Given the description of an element on the screen output the (x, y) to click on. 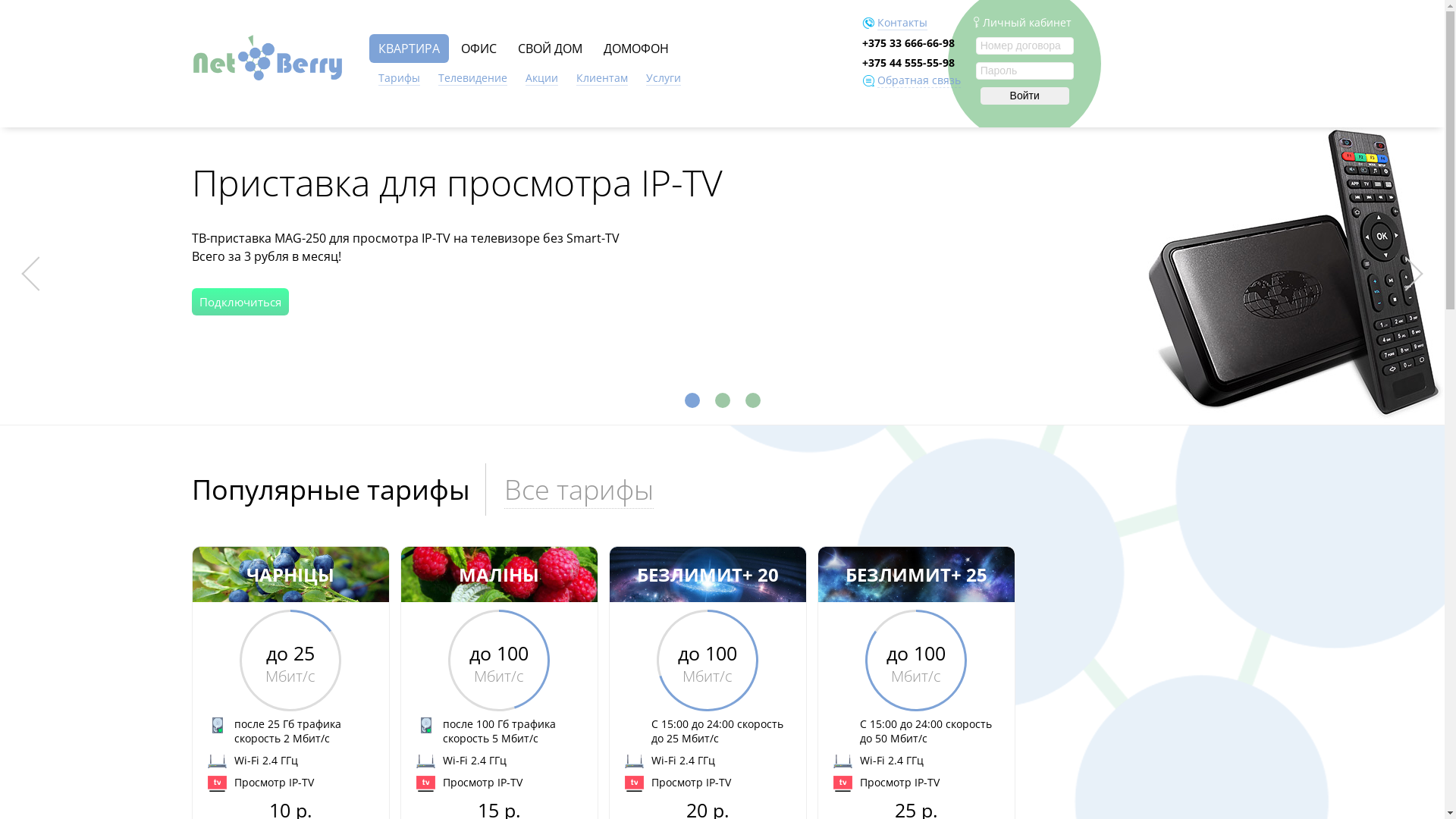
+375 44 555-55-98 Element type: text (907, 62)
+375 33 666-66-98 Element type: text (907, 42)
